Given the description of an element on the screen output the (x, y) to click on. 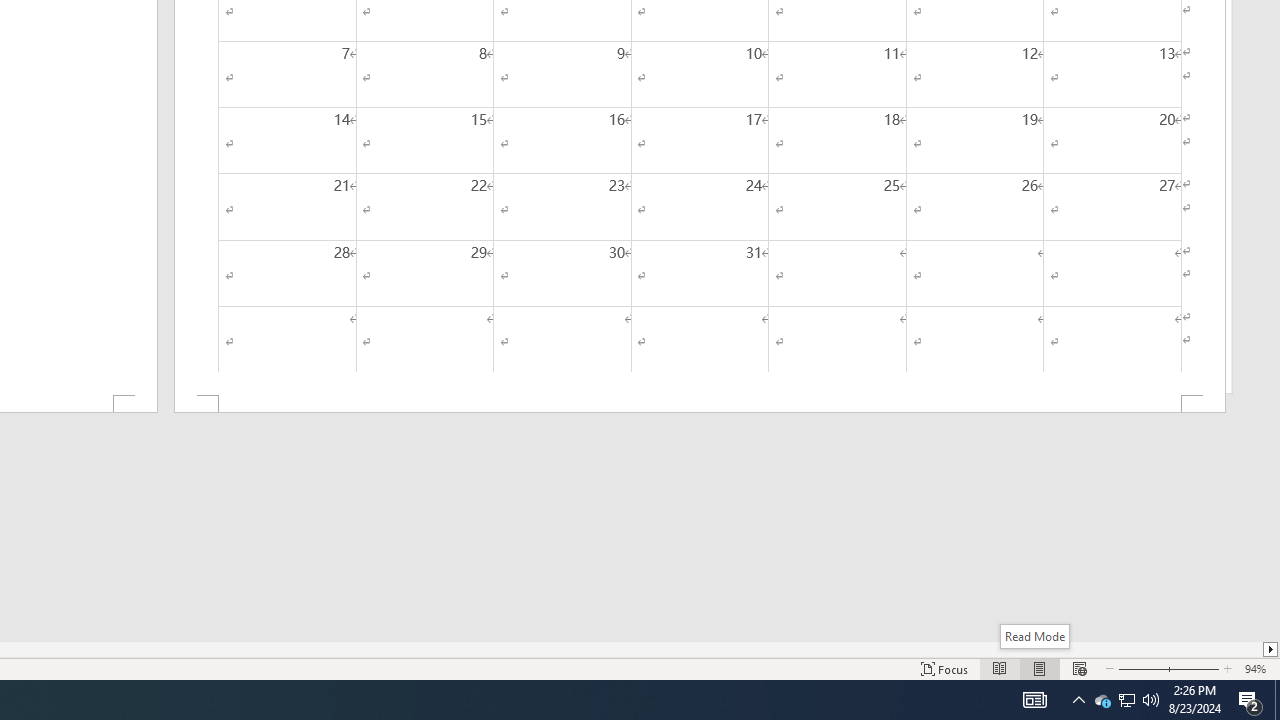
Zoom In (1193, 668)
Footer -Section 1- (700, 404)
Print Layout (1039, 668)
Read Mode (1034, 636)
Web Layout (1079, 668)
Column right (1271, 649)
Focus  (944, 668)
Zoom Out (1140, 668)
Read Mode (1000, 668)
